Given the description of an element on the screen output the (x, y) to click on. 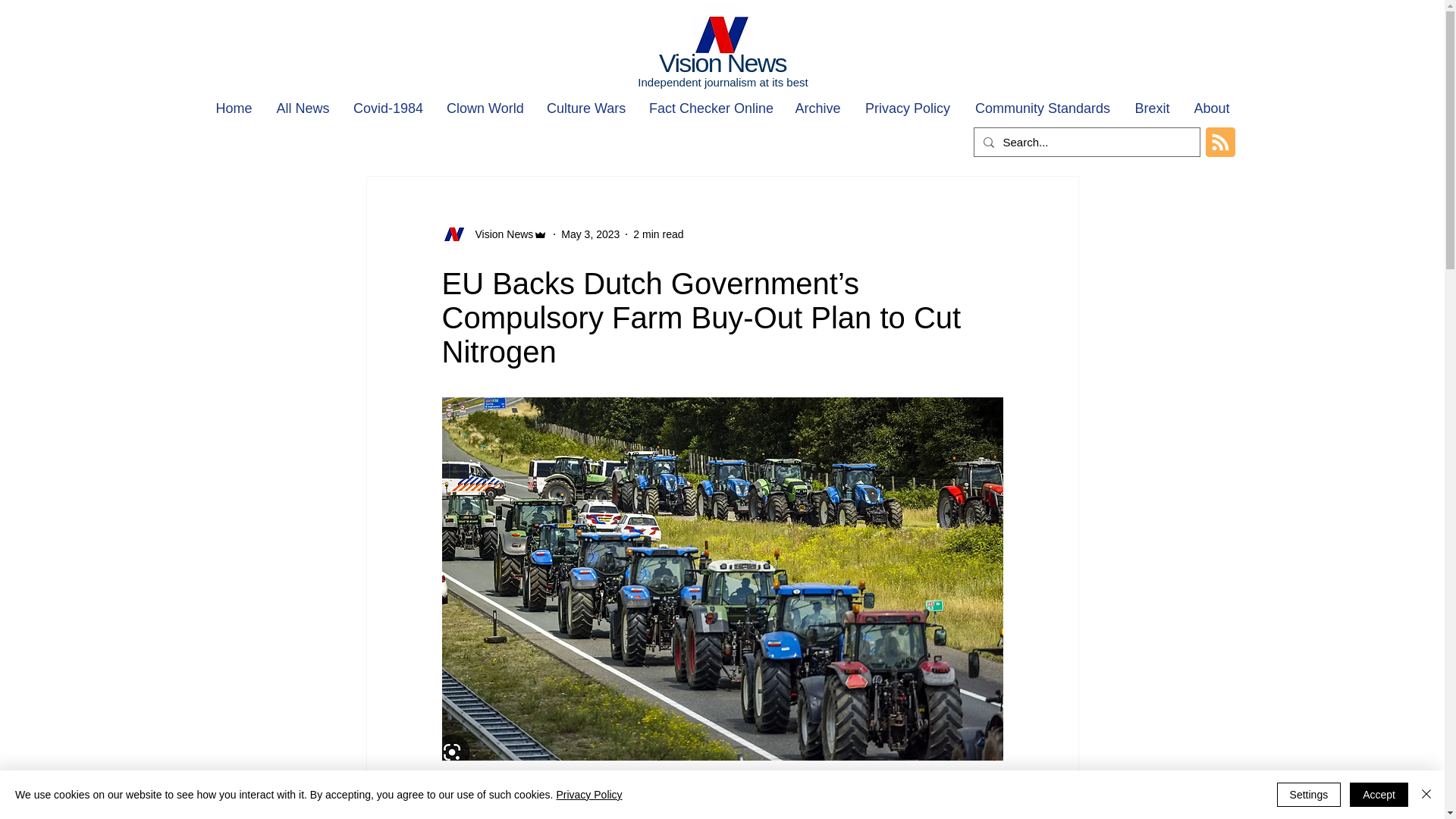
Privacy Policy (906, 108)
2 min read (657, 233)
Fact Checker Online (710, 108)
Home (233, 108)
Culture Wars (585, 108)
Covid-1984 (386, 108)
May 3, 2023 (590, 233)
Archive (817, 108)
All News (301, 108)
Vision News (722, 62)
